Given the description of an element on the screen output the (x, y) to click on. 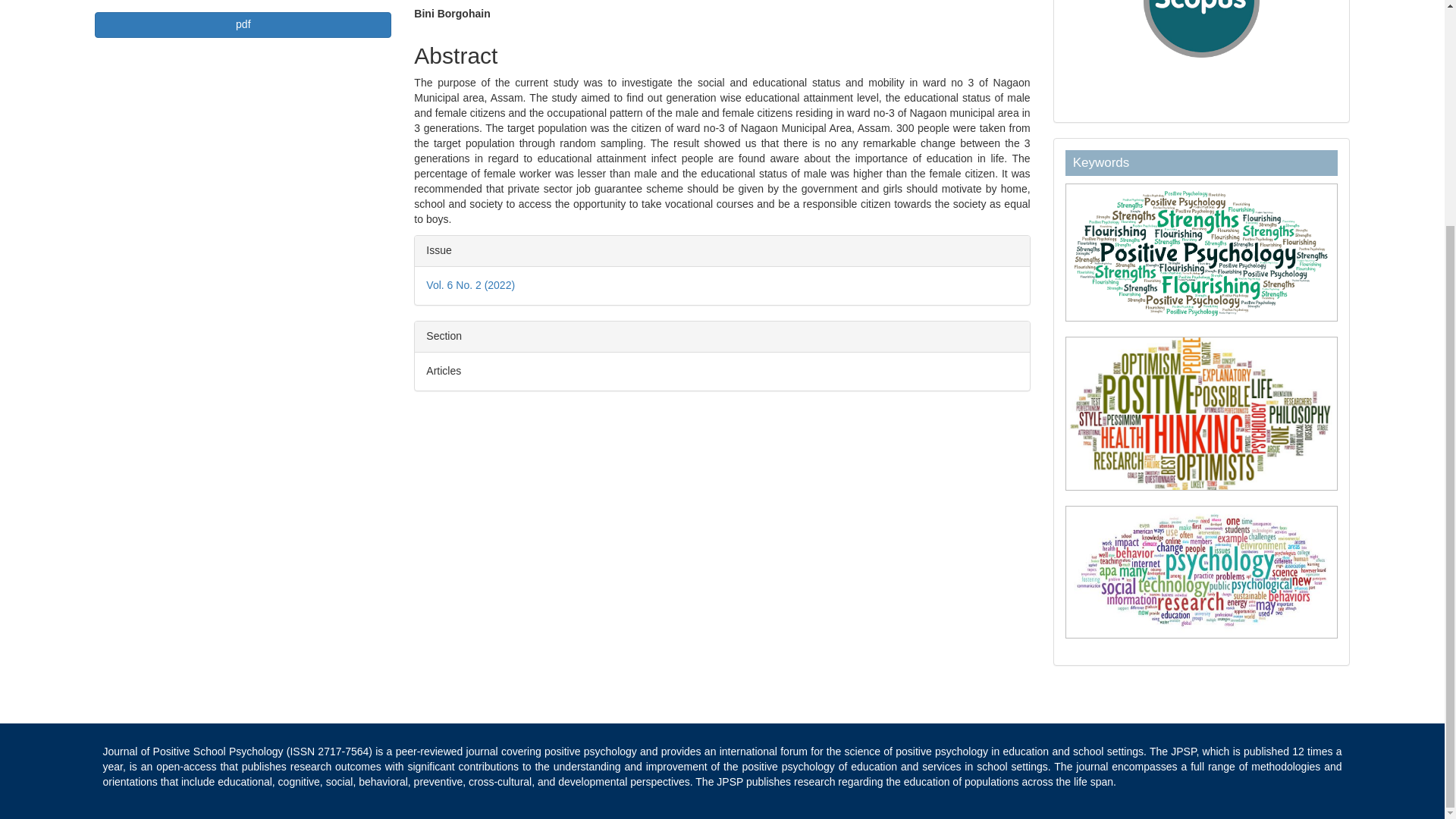
pdf (242, 24)
